Given the description of an element on the screen output the (x, y) to click on. 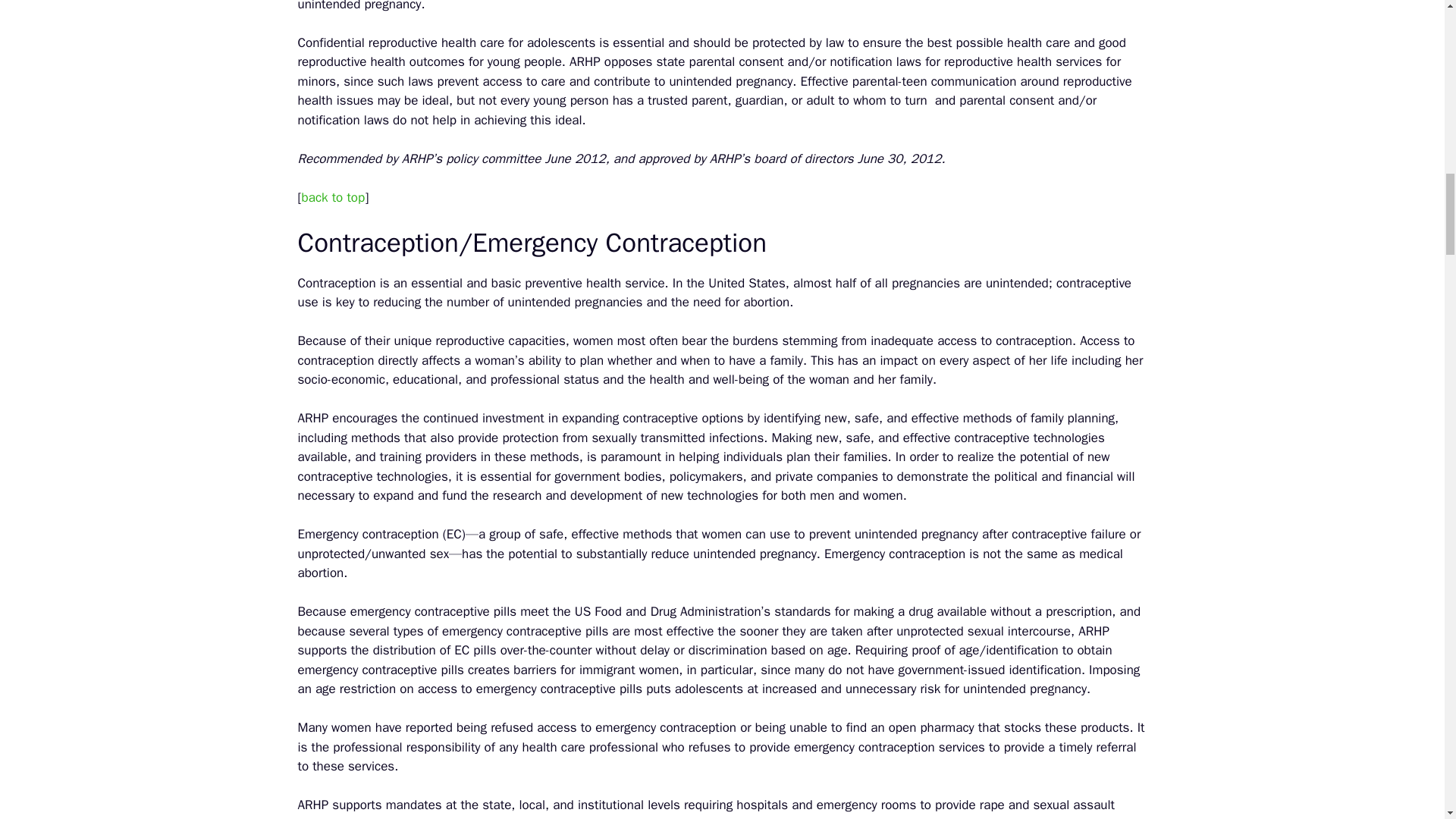
back to top (333, 197)
